Given the description of an element on the screen output the (x, y) to click on. 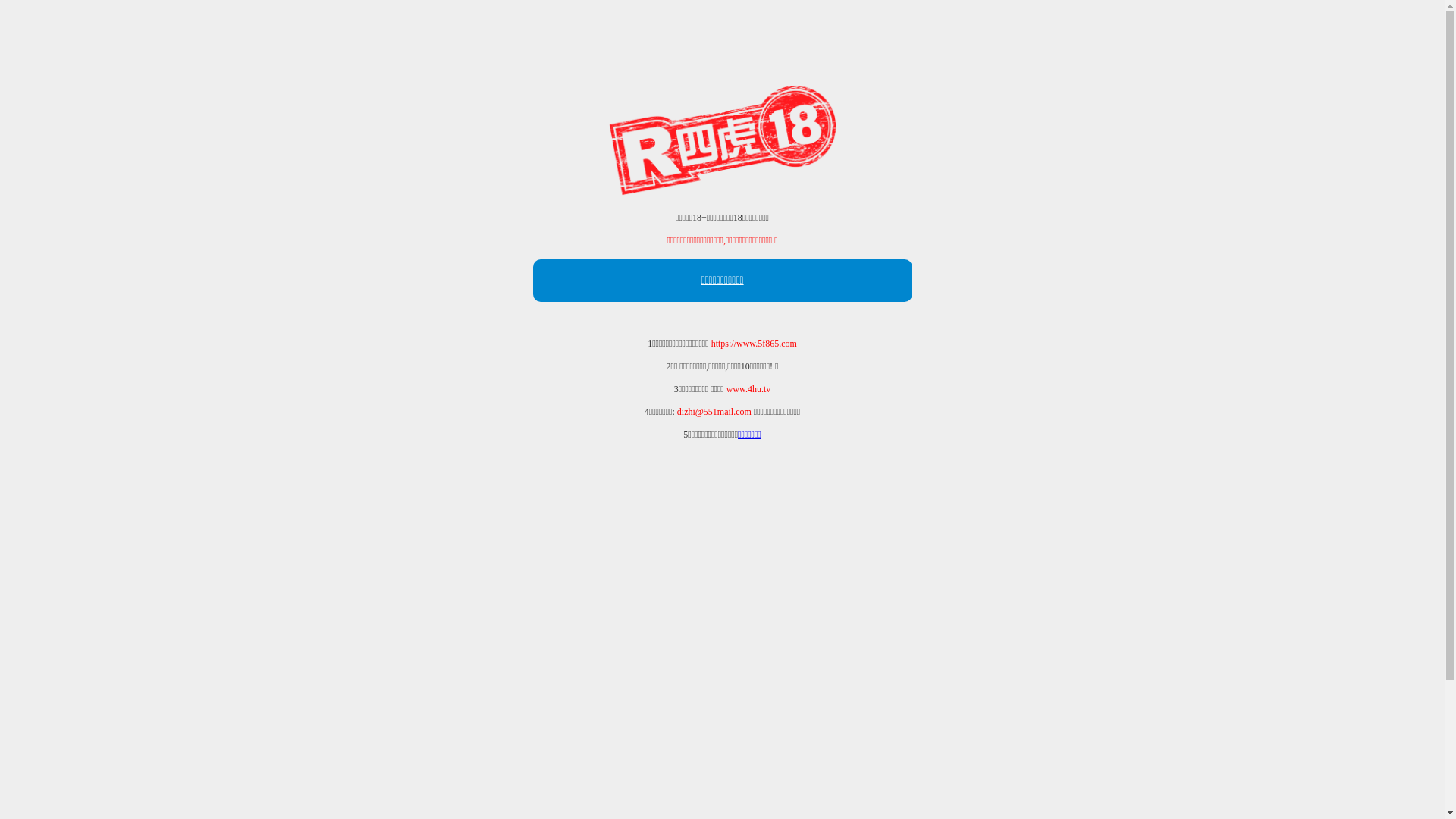
https://www.5f865.com Element type: text (754, 343)
www.4hu.tv Element type: text (748, 388)
